Given the description of an element on the screen output the (x, y) to click on. 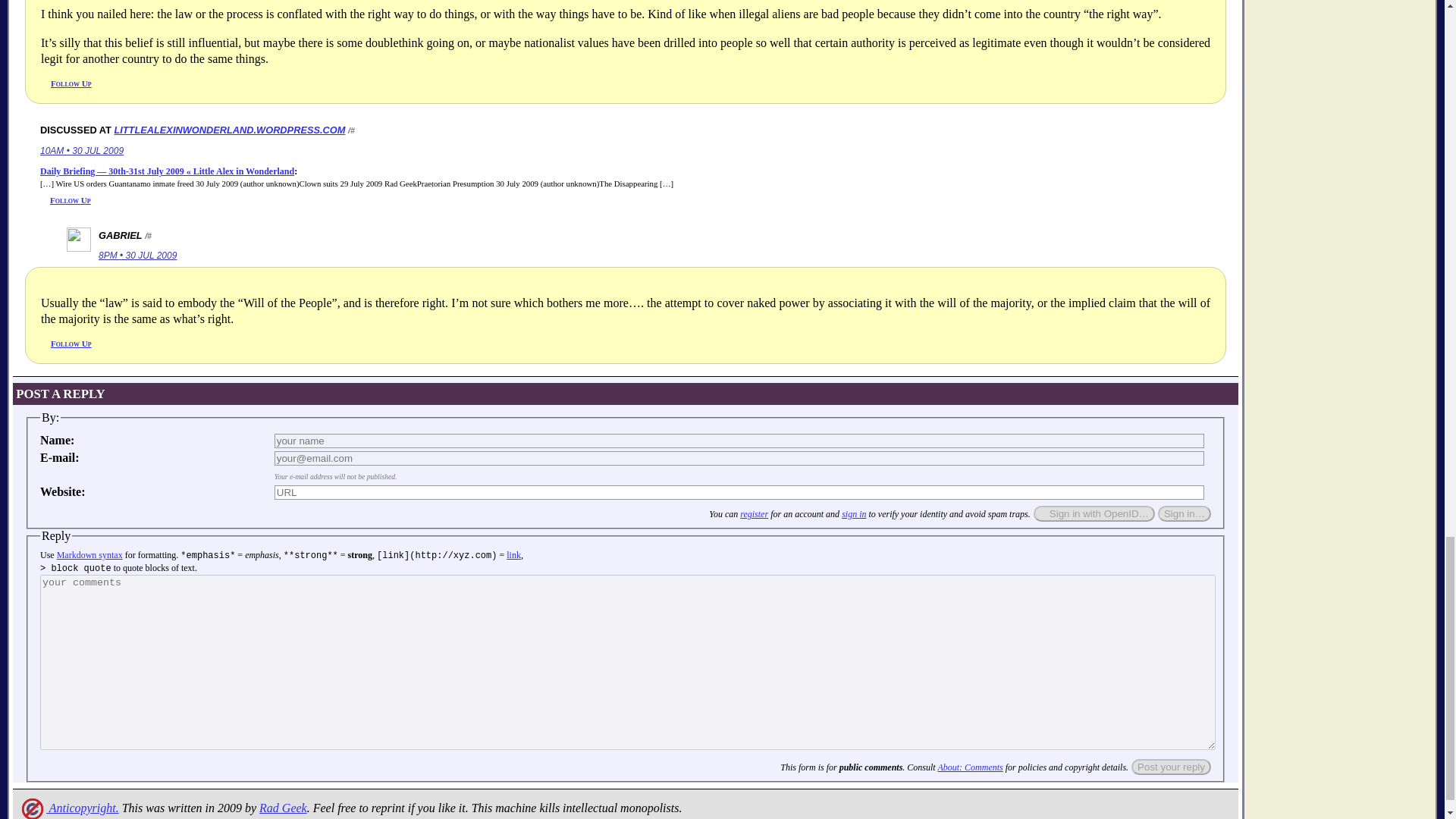
Follow Up (69, 199)
Follow Up (70, 82)
Follow Up (70, 343)
Rad Geek People's Daily: Contact Me (283, 807)
Post your reply (1171, 766)
register (753, 513)
sign in (853, 513)
LITTLEALEXINWONDERLAND.WORDPRESS.COM (229, 129)
